Given the description of an element on the screen output the (x, y) to click on. 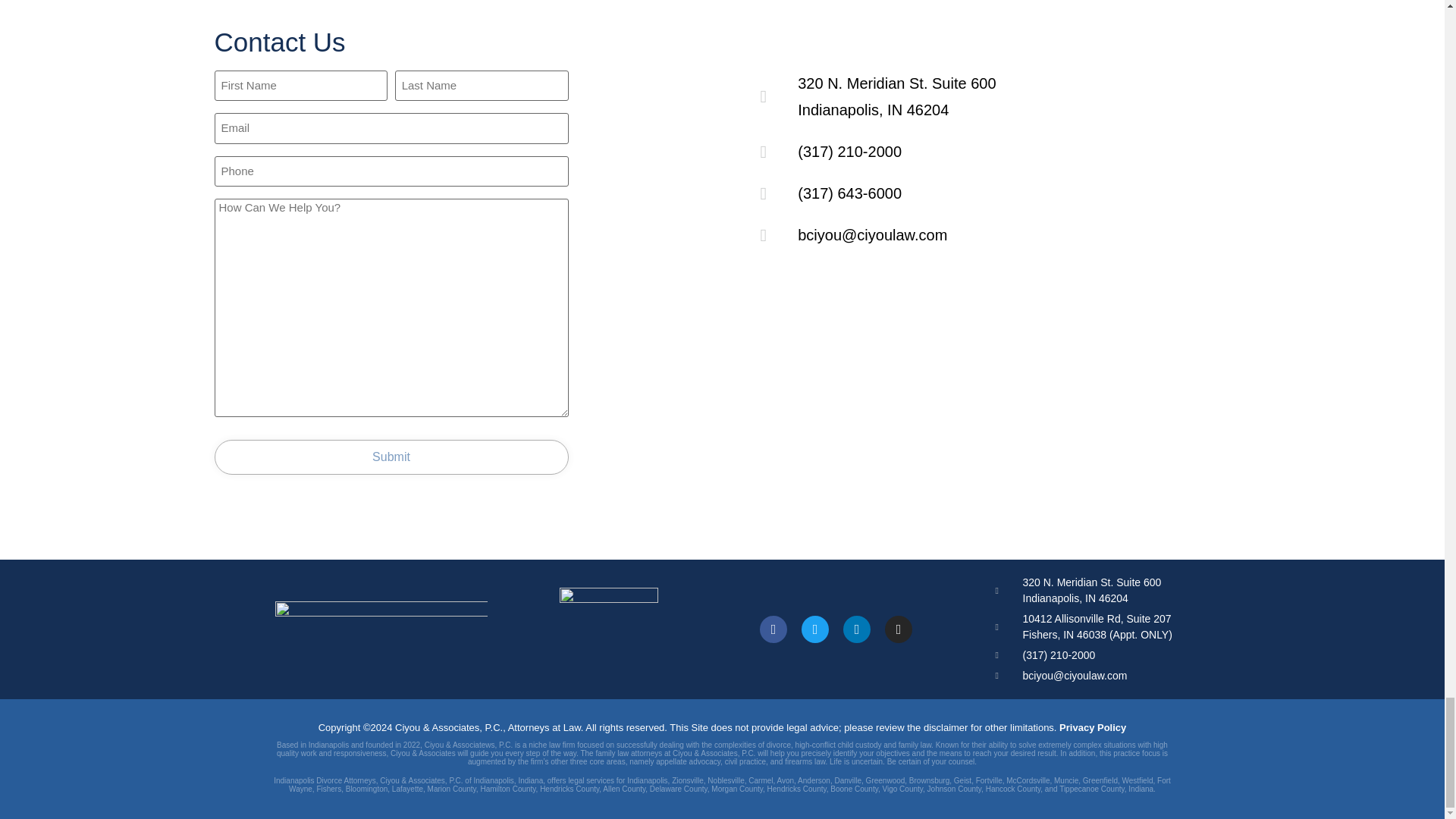
320 N Meridian St, Indianapolis, IN 46204 (976, 377)
Submit (390, 457)
